Given the description of an element on the screen output the (x, y) to click on. 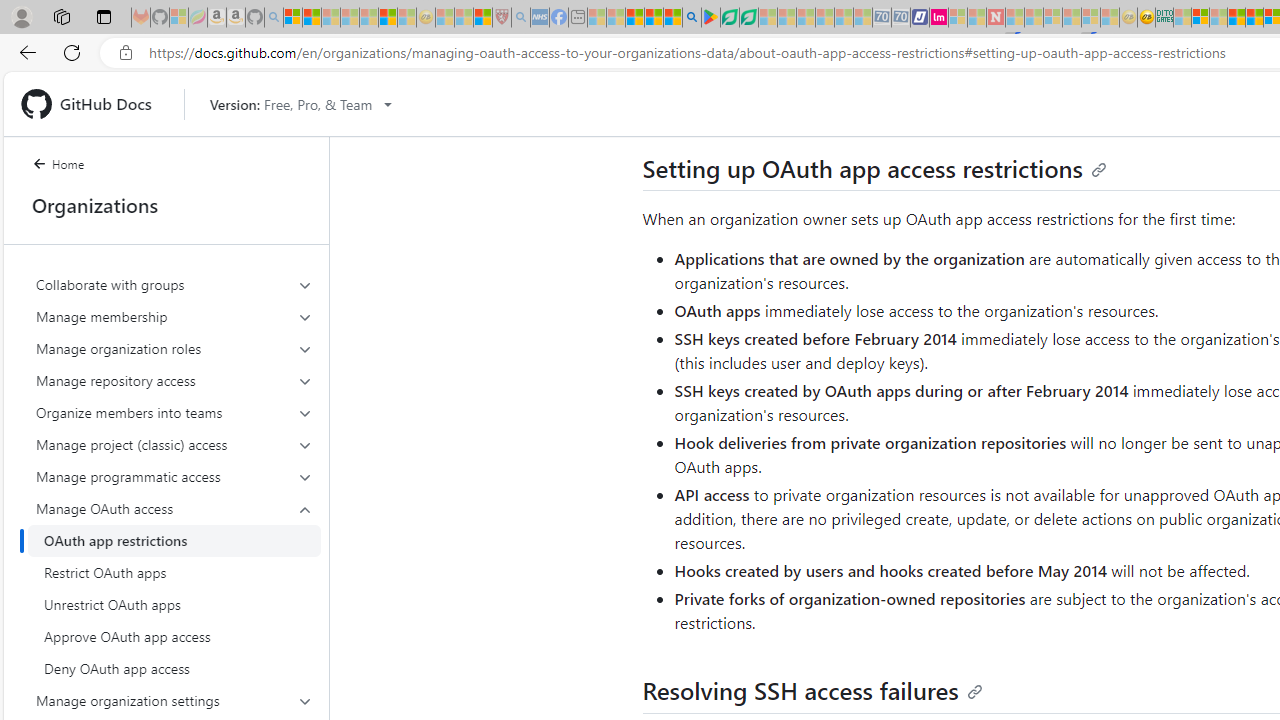
Local - MSN (482, 17)
Microsoft Word - consumer-privacy address update 2.2021 (748, 17)
Restrict OAuth apps (174, 572)
Manage OAuth access (174, 588)
